Given the description of an element on the screen output the (x, y) to click on. 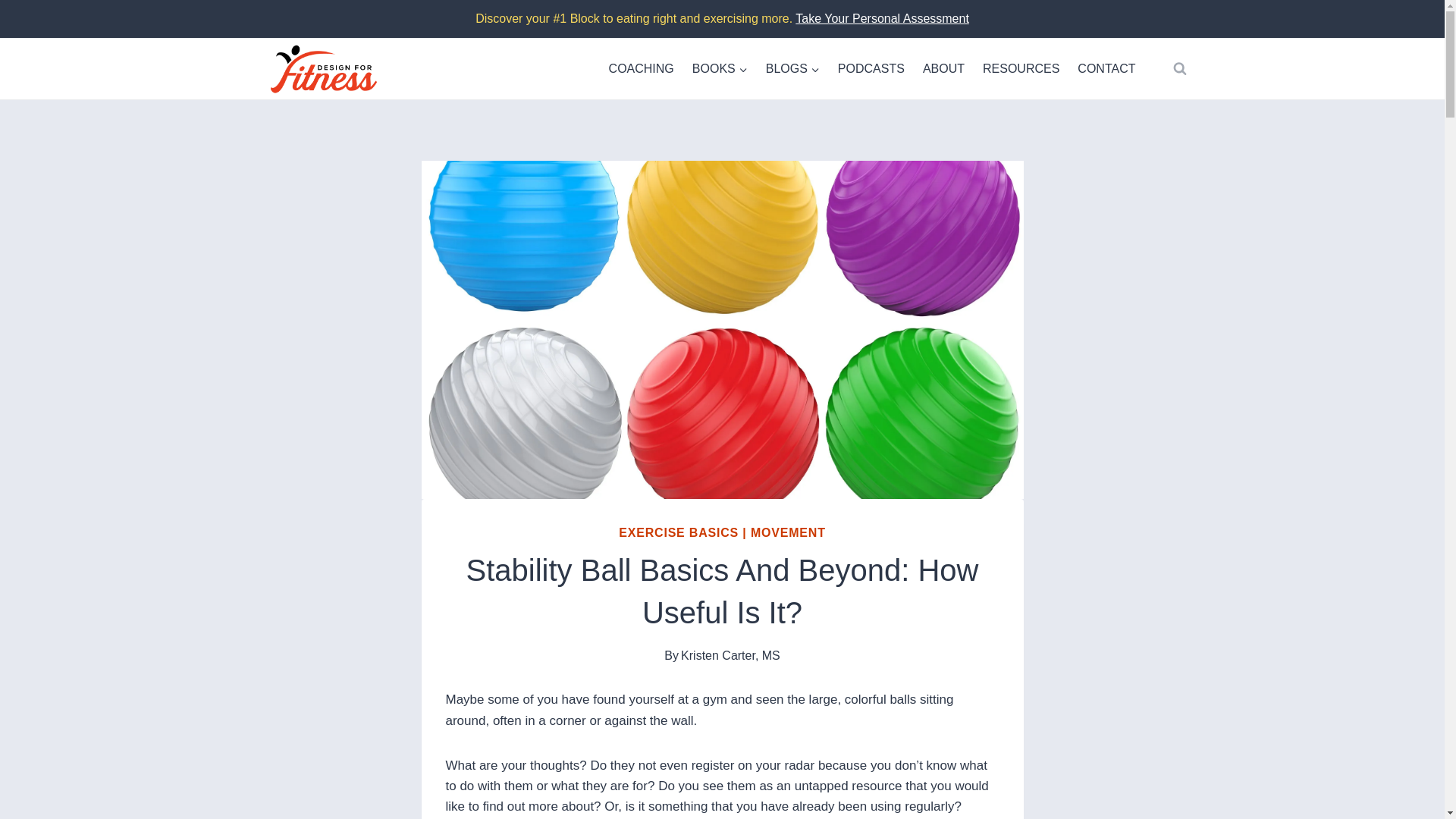
Take Your Personal Assessment (881, 18)
BOOKS (719, 68)
ABOUT (944, 68)
EXERCISE BASICS (678, 532)
CONTACT (1106, 68)
BLOGS (792, 68)
PODCASTS (871, 68)
MOVEMENT (788, 532)
RESOURCES (1021, 68)
COACHING (640, 68)
